Given the description of an element on the screen output the (x, y) to click on. 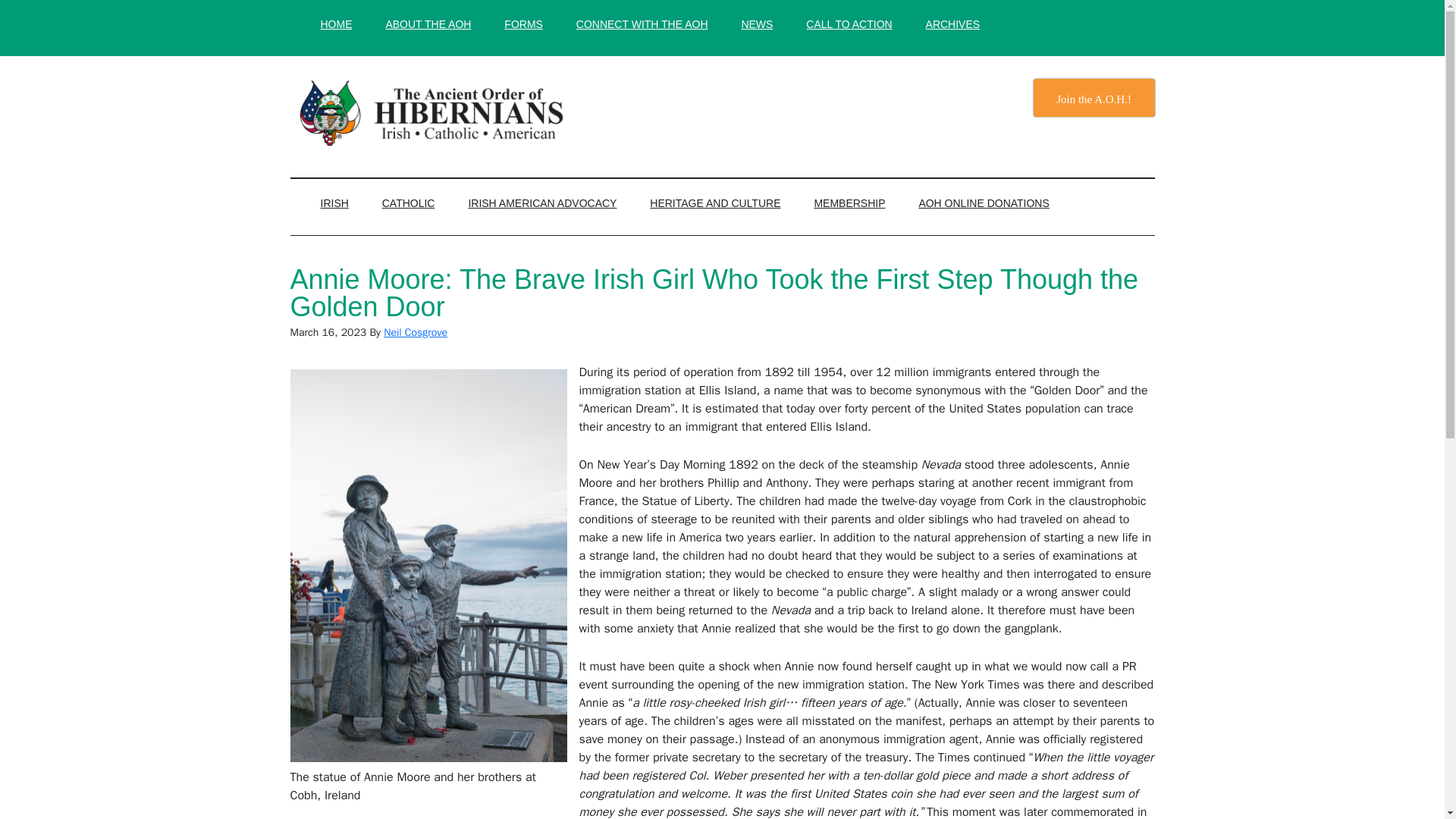
CONNECT WITH THE AOH (641, 24)
ABOUT THE AOH (427, 24)
FORMS (523, 24)
HOME (335, 24)
